Given the description of an element on the screen output the (x, y) to click on. 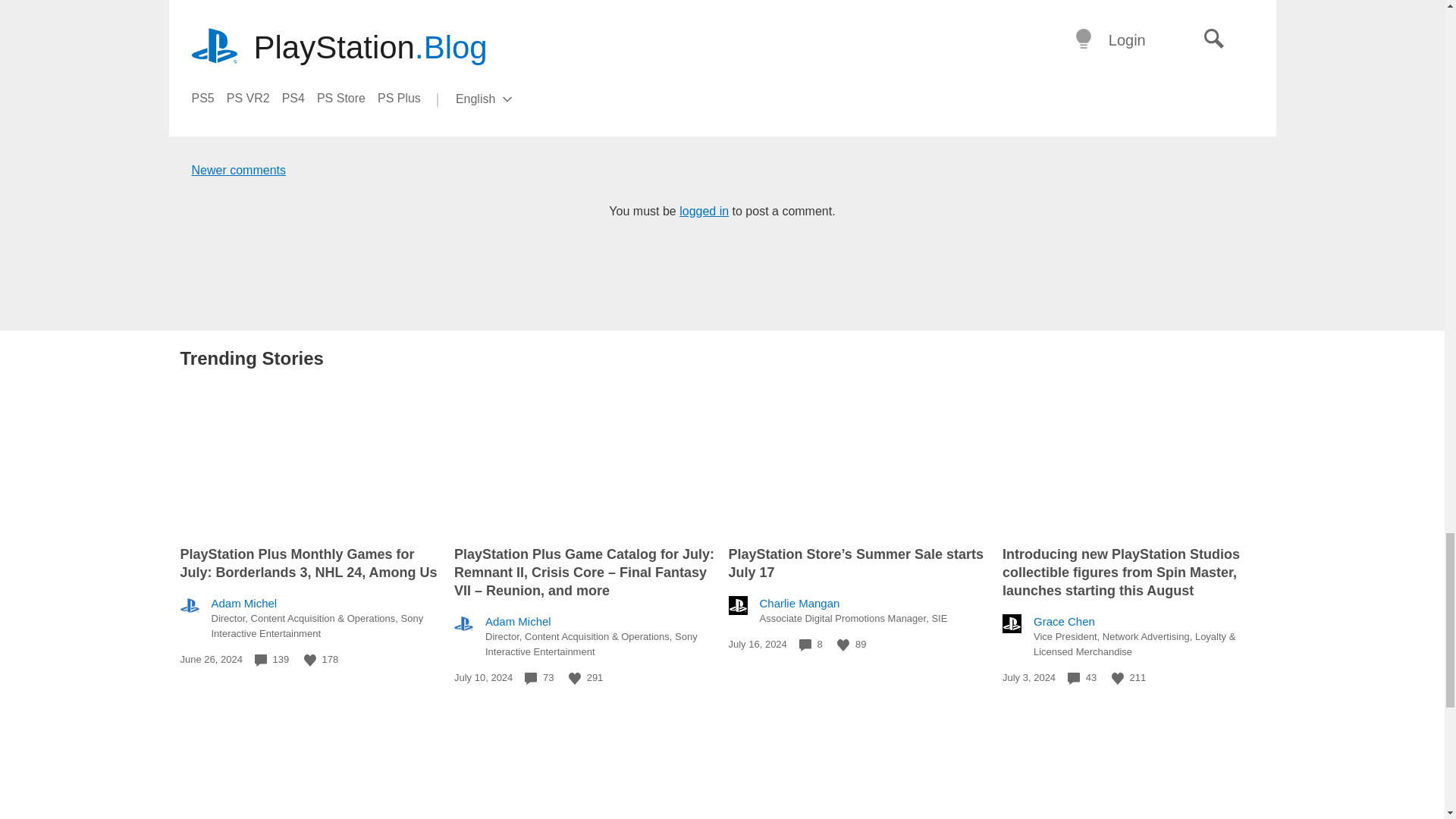
Like this (1118, 678)
Like this (309, 660)
Like this (574, 678)
Like this (842, 645)
